Given the description of an element on the screen output the (x, y) to click on. 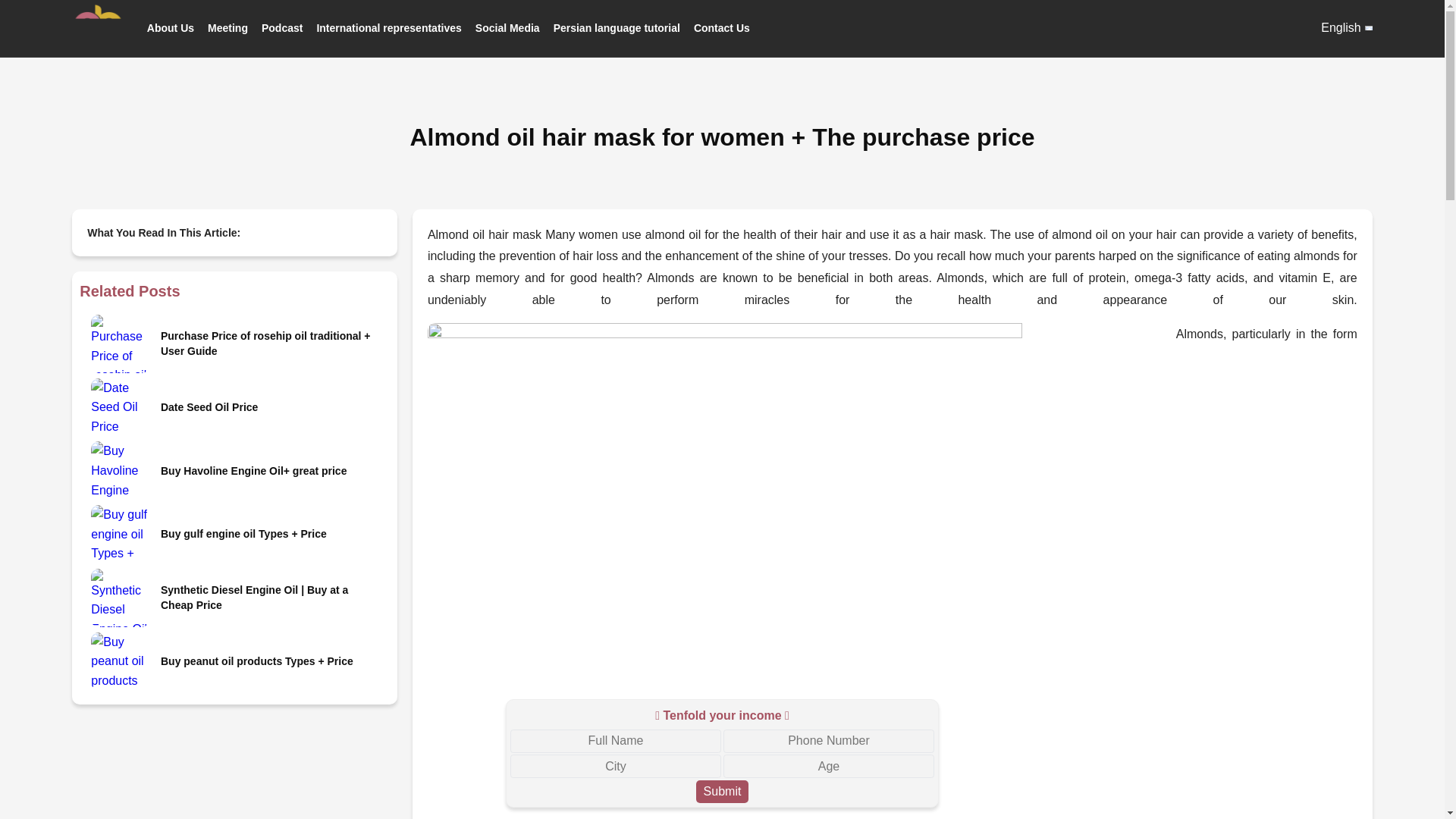
Date Seed Oil Price (270, 406)
Podcast (282, 27)
Persian language tutorial (616, 27)
Submit (722, 791)
About Us (170, 27)
Contact Us (721, 27)
Meeting (227, 27)
International representatives (388, 27)
Social Media (508, 27)
